Given the description of an element on the screen output the (x, y) to click on. 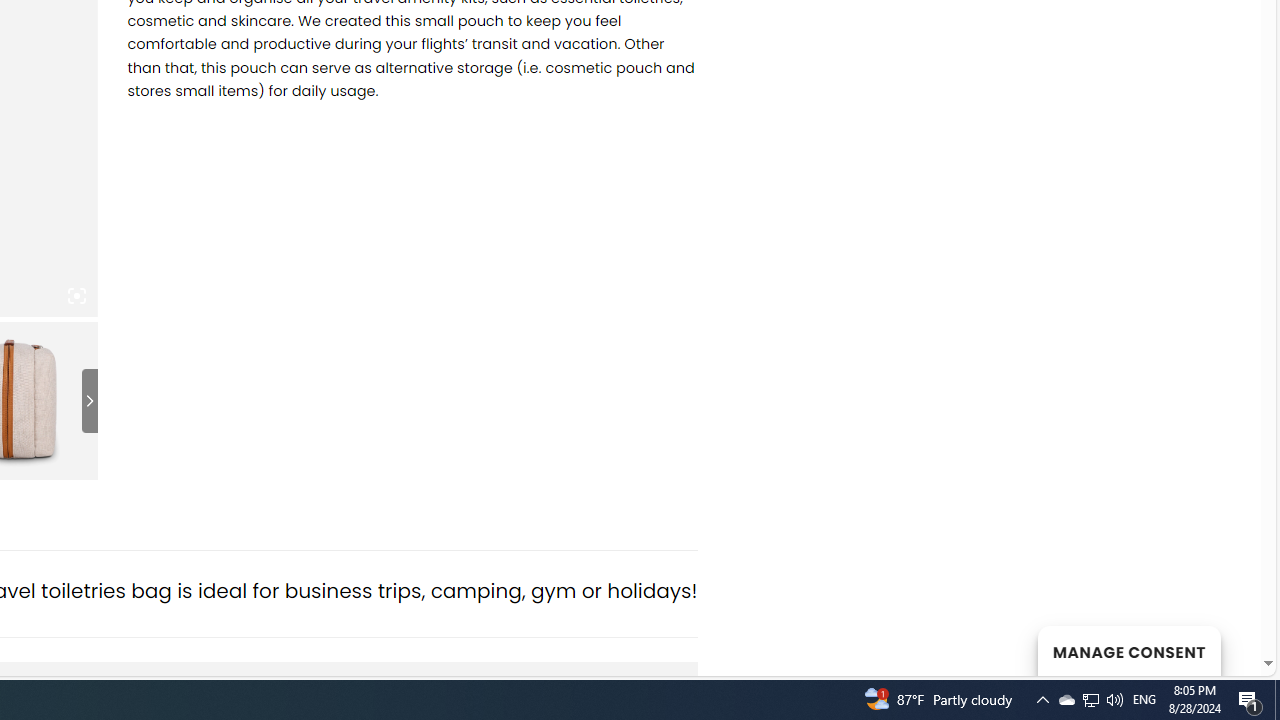
Class: iconic-woothumbs-fullscreen (75, 296)
MANAGE CONSENT (1128, 650)
